Given the description of an element on the screen output the (x, y) to click on. 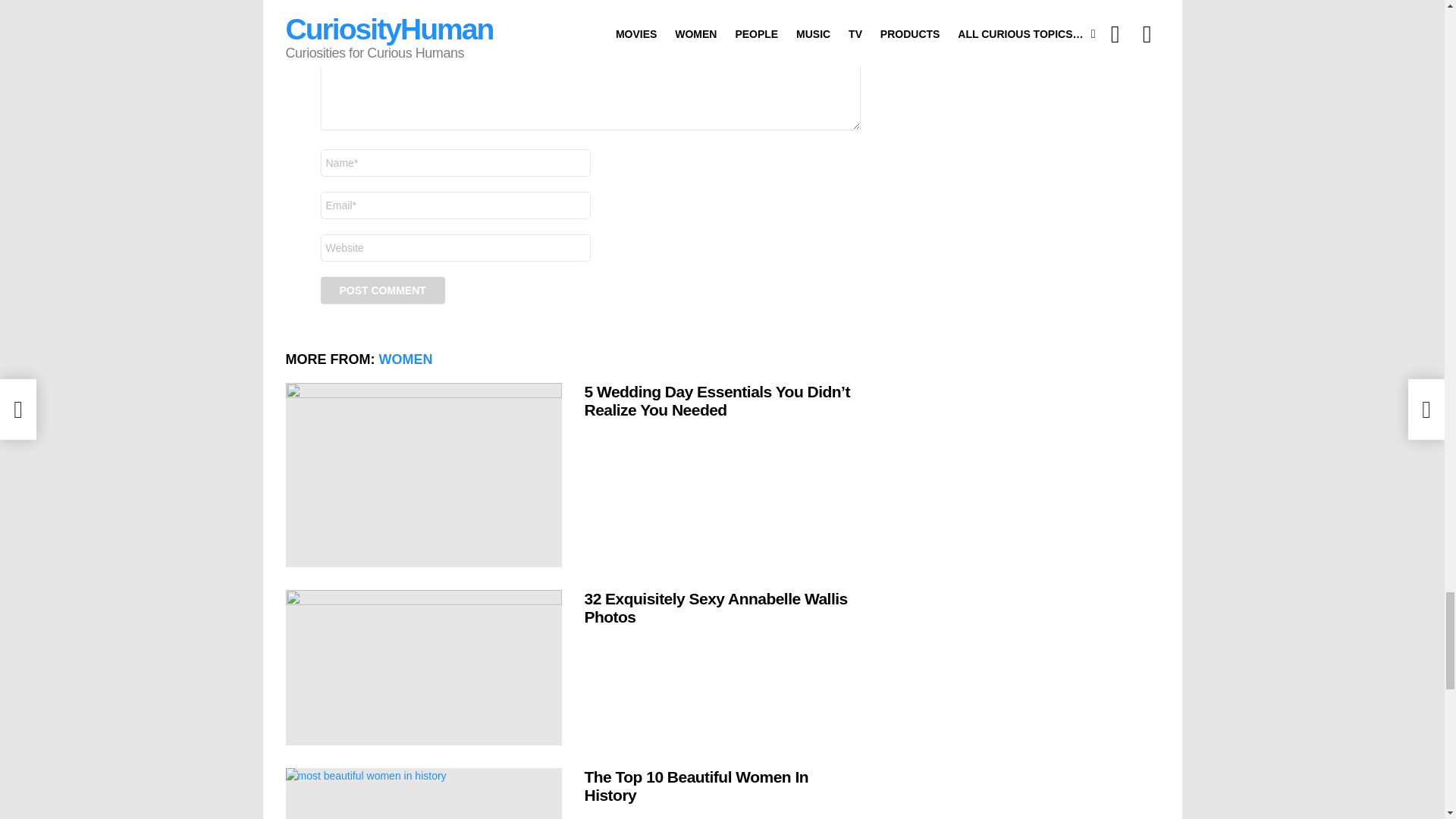
32 Exquisitely Sexy Annabelle Wallis Photos (422, 667)
The Top 10 Beautiful Women In History (422, 793)
Post Comment (382, 289)
